Given the description of an element on the screen output the (x, y) to click on. 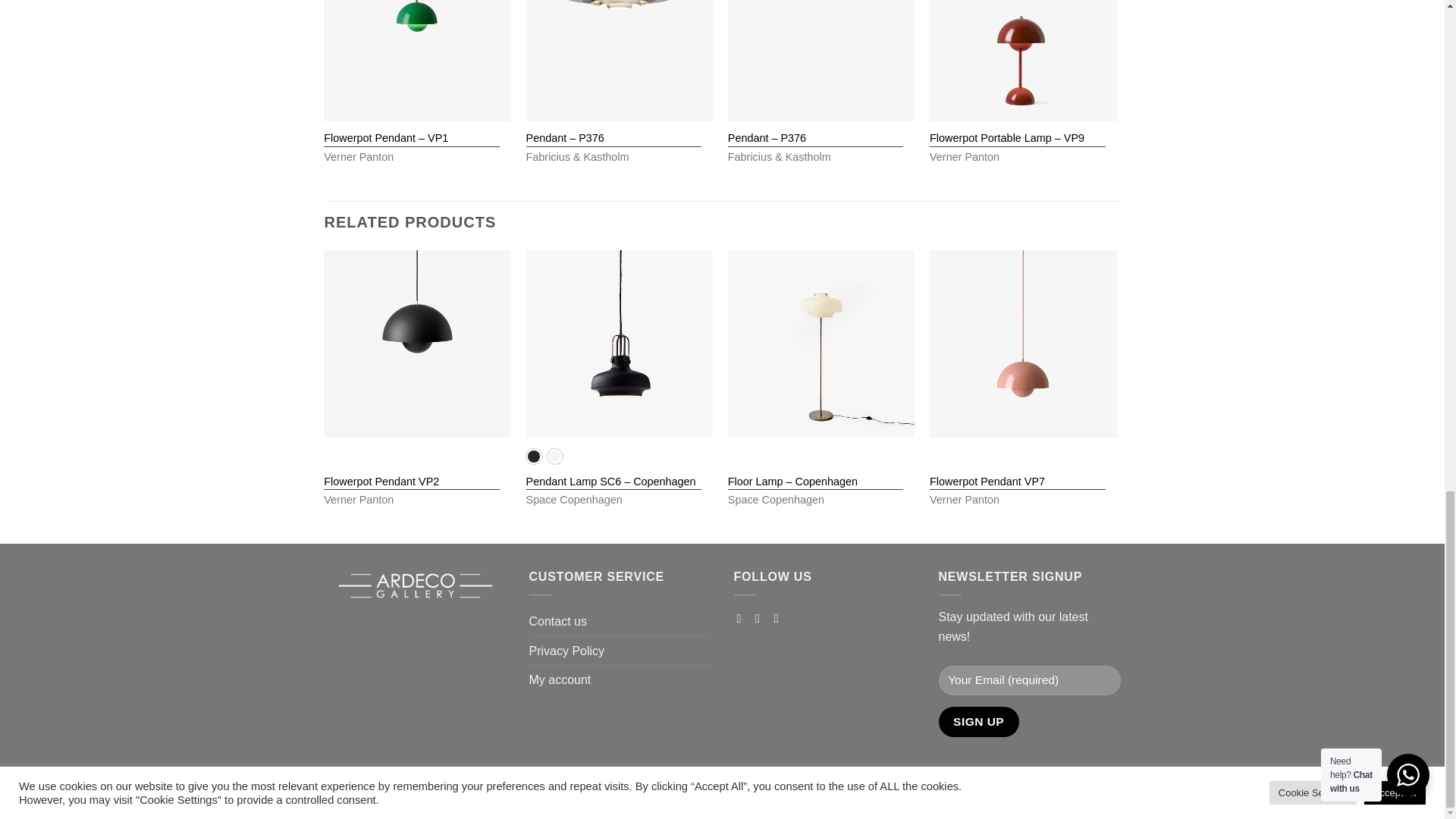
Sign Up (979, 721)
